Given the description of an element on the screen output the (x, y) to click on. 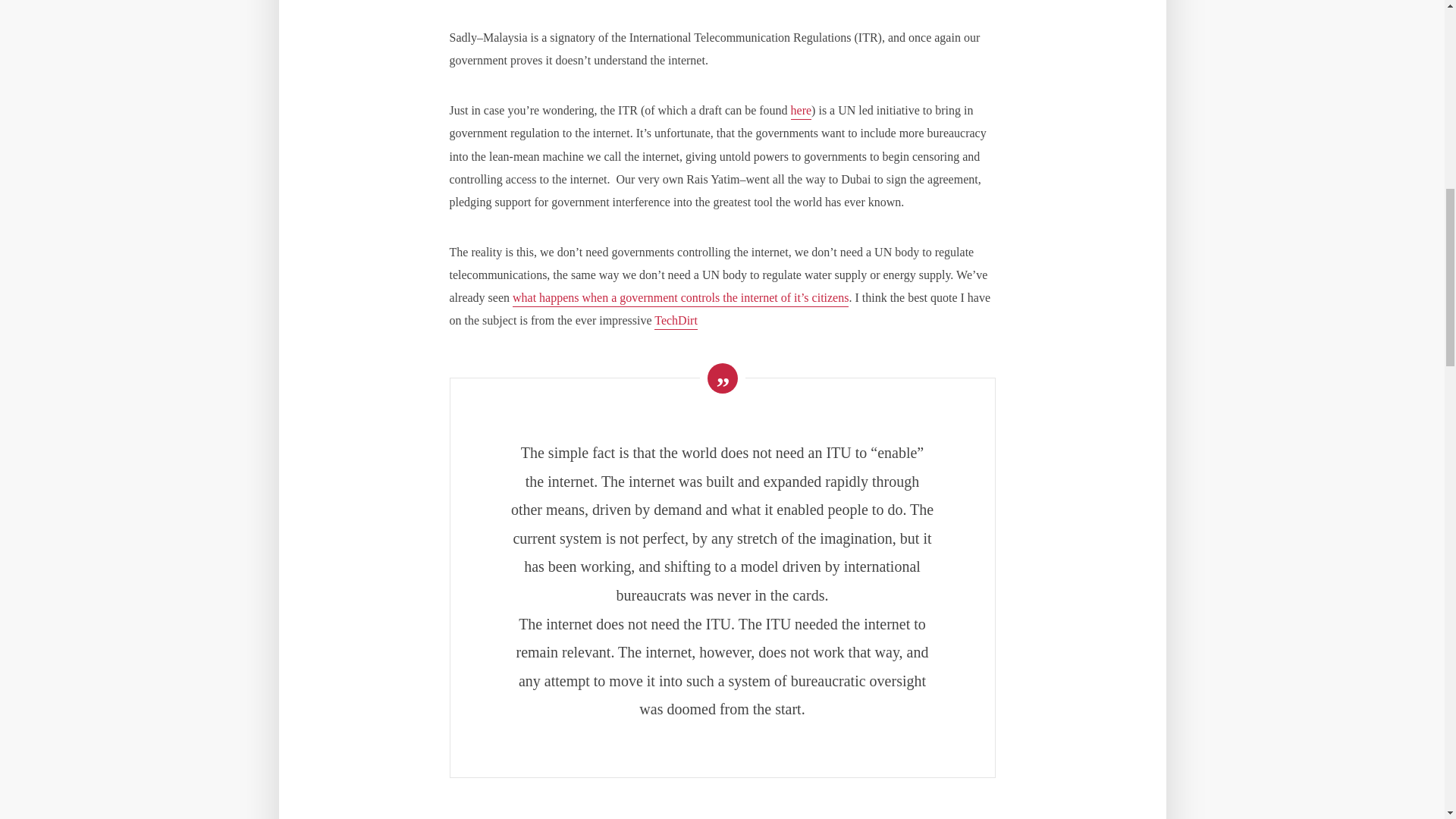
TechDirt (675, 321)
here (801, 111)
ITU Treaty (675, 321)
ITR (801, 111)
